Given the description of an element on the screen output the (x, y) to click on. 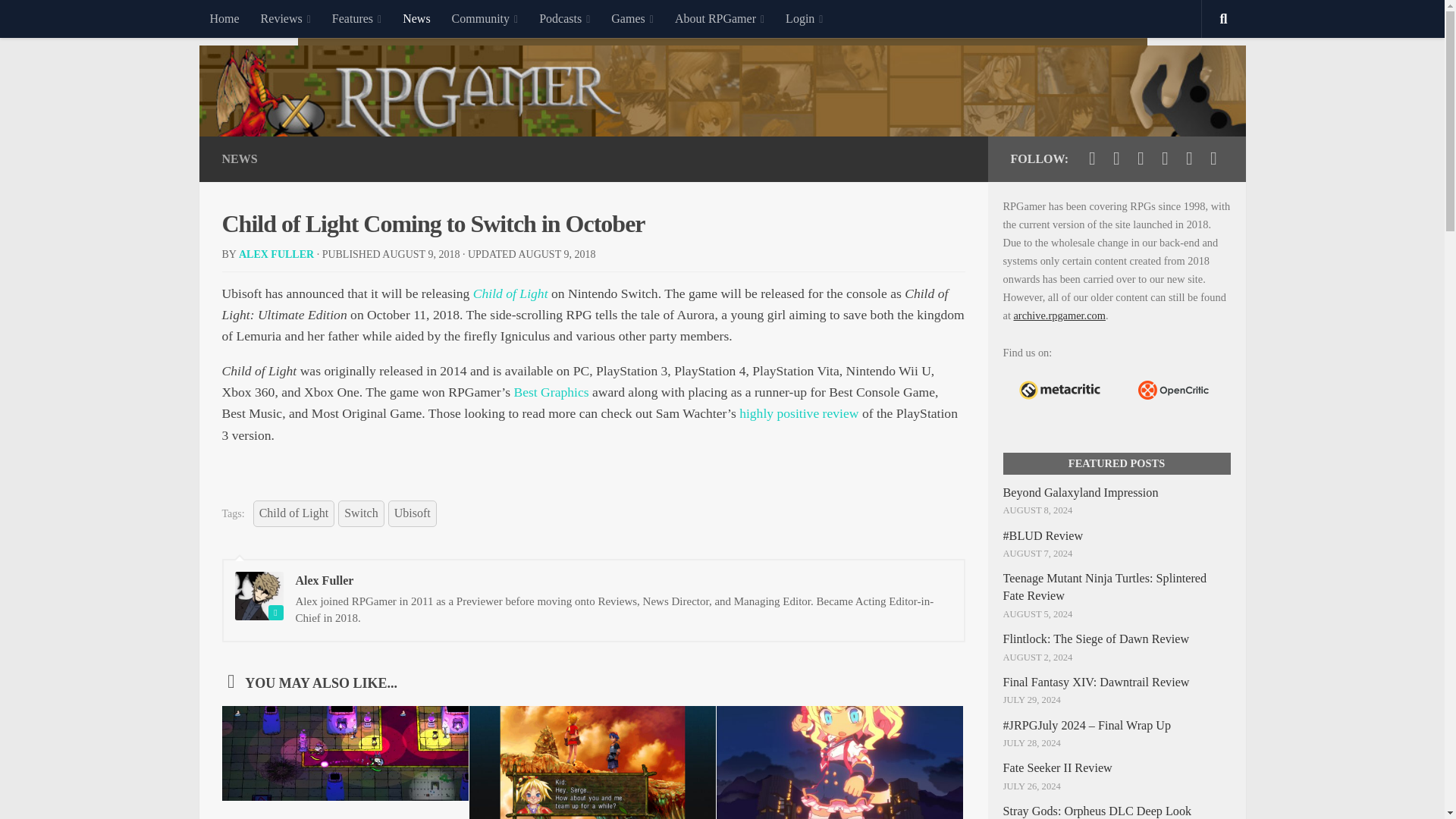
Follow us on Twitter (1091, 158)
Follow us on Twitch (1164, 158)
Follow us on Discord (1188, 158)
Follow us on Rss (1213, 158)
Posts by Alex Fuller (276, 254)
Follow us on Youtube (1140, 158)
Follow us on Facebook (1115, 158)
Skip to content (59, 20)
